Given the description of an element on the screen output the (x, y) to click on. 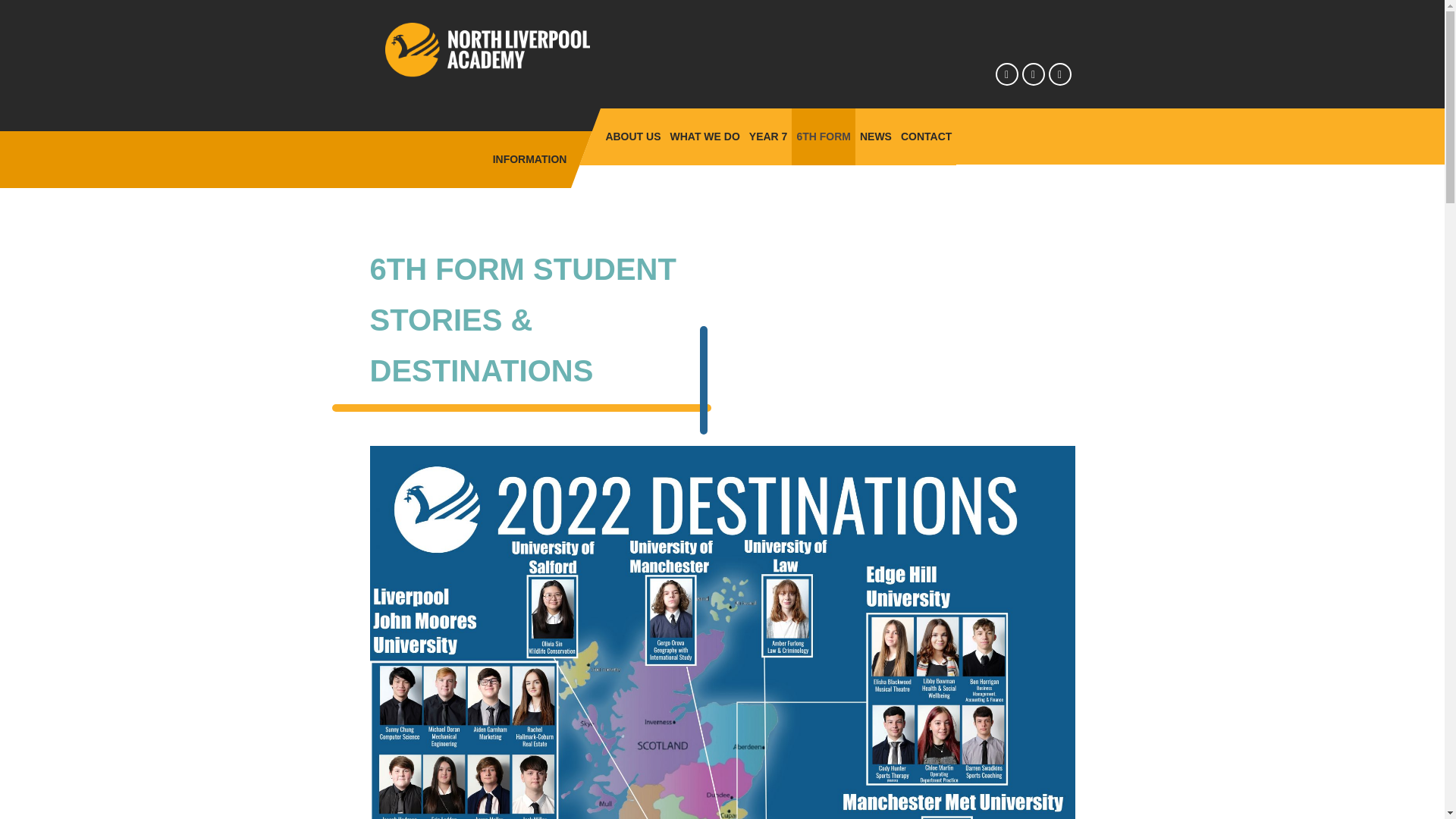
ABOUT US (632, 136)
WHAT WE DO (704, 136)
INFORMATION (529, 159)
